Given the description of an element on the screen output the (x, y) to click on. 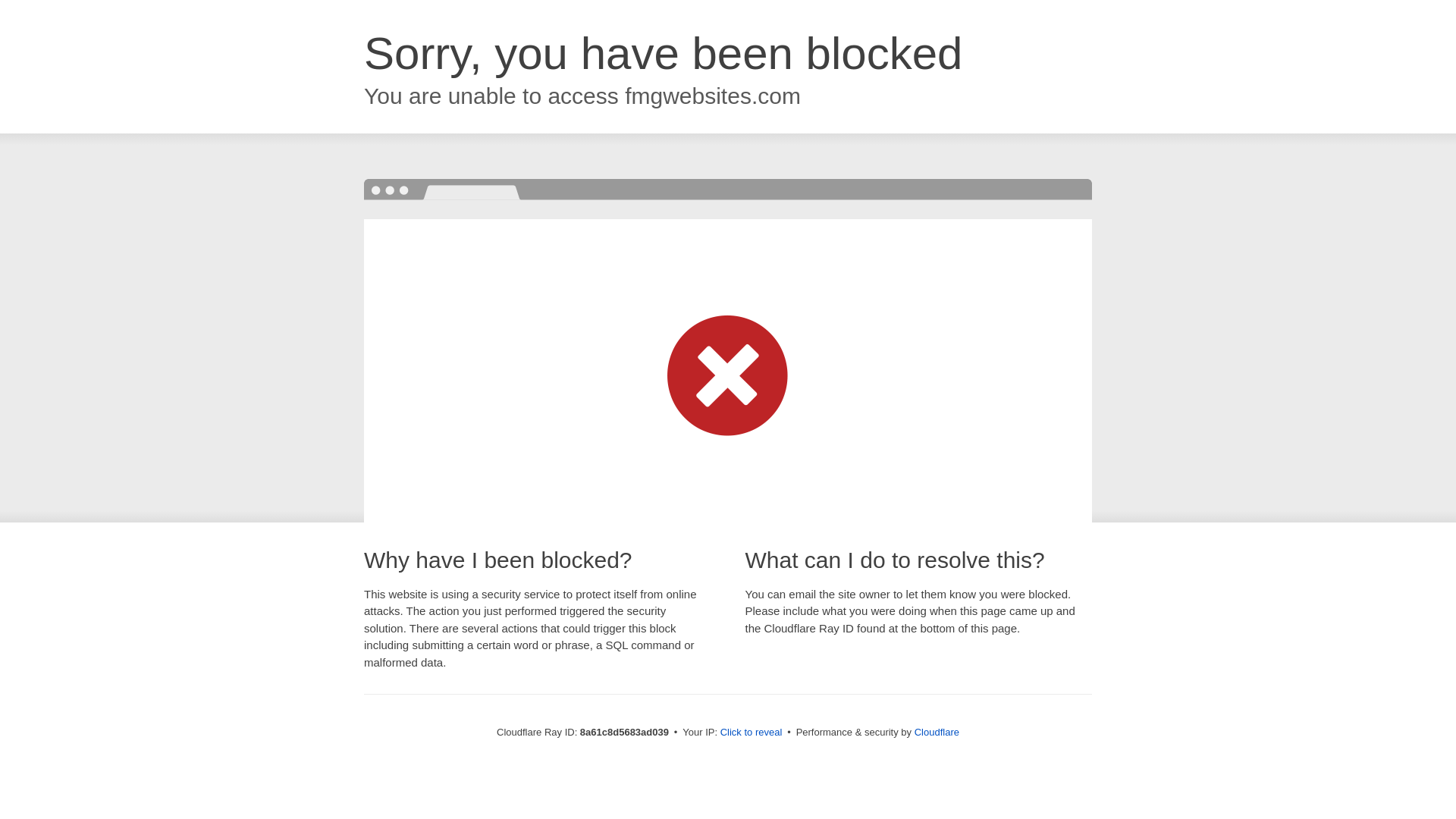
Click to reveal (751, 732)
Cloudflare (936, 731)
